Given the description of an element on the screen output the (x, y) to click on. 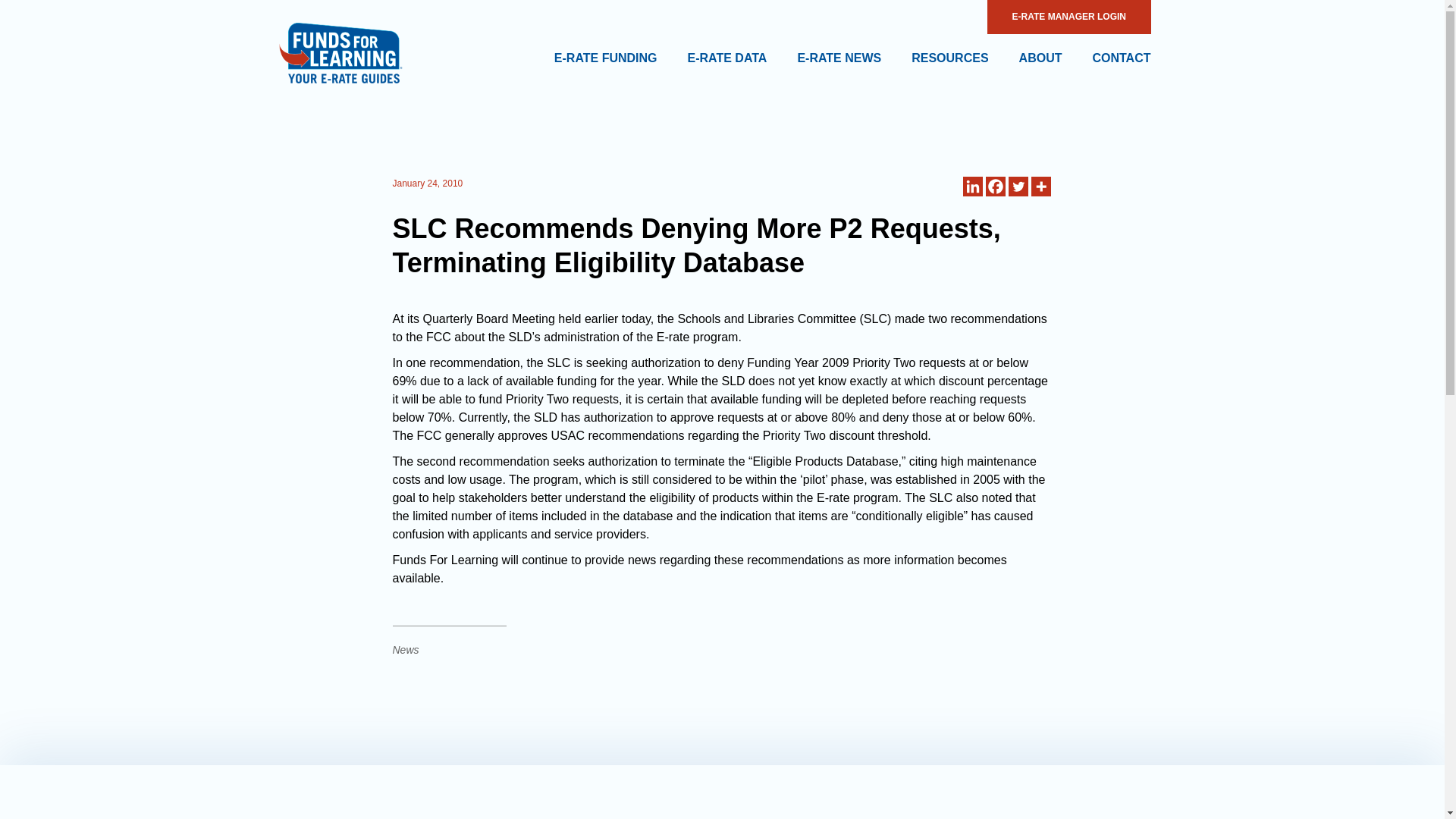
E-RATE FUNDING (606, 58)
Facebook (995, 186)
E-RATE NEWS (838, 58)
Twitter (1018, 186)
E-RATE MANAGER LOGIN (1068, 17)
E-RATE DATA (727, 58)
Linkedin (972, 186)
RESOURCES (949, 58)
More (1040, 186)
ABOUT (1040, 58)
CONTACT (1121, 58)
